Given the description of an element on the screen output the (x, y) to click on. 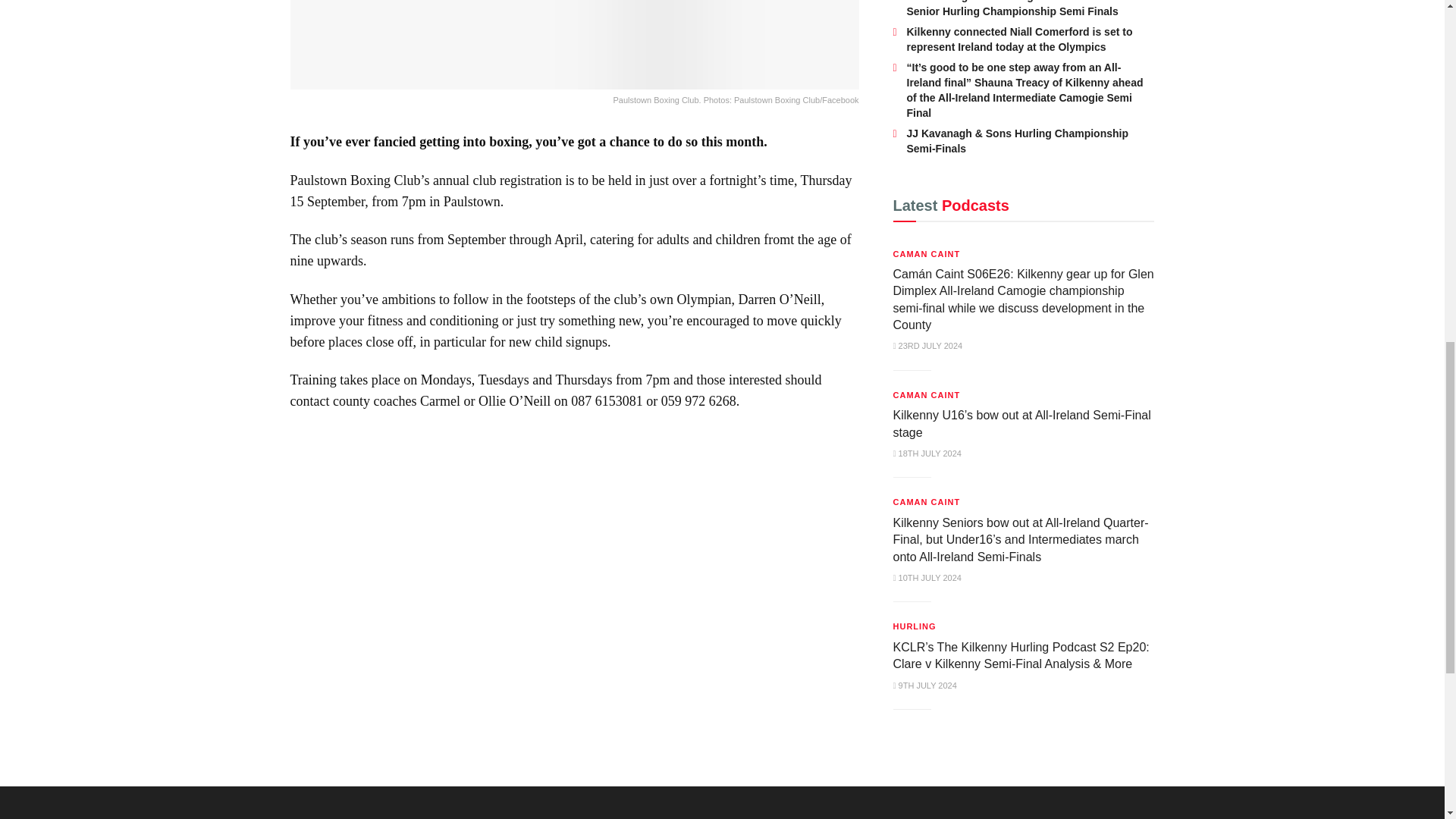
CAMAN CAINT (926, 253)
CAMAN CAINT (926, 394)
23RD JULY 2024 (927, 345)
18TH JULY 2024 (926, 452)
